Given the description of an element on the screen output the (x, y) to click on. 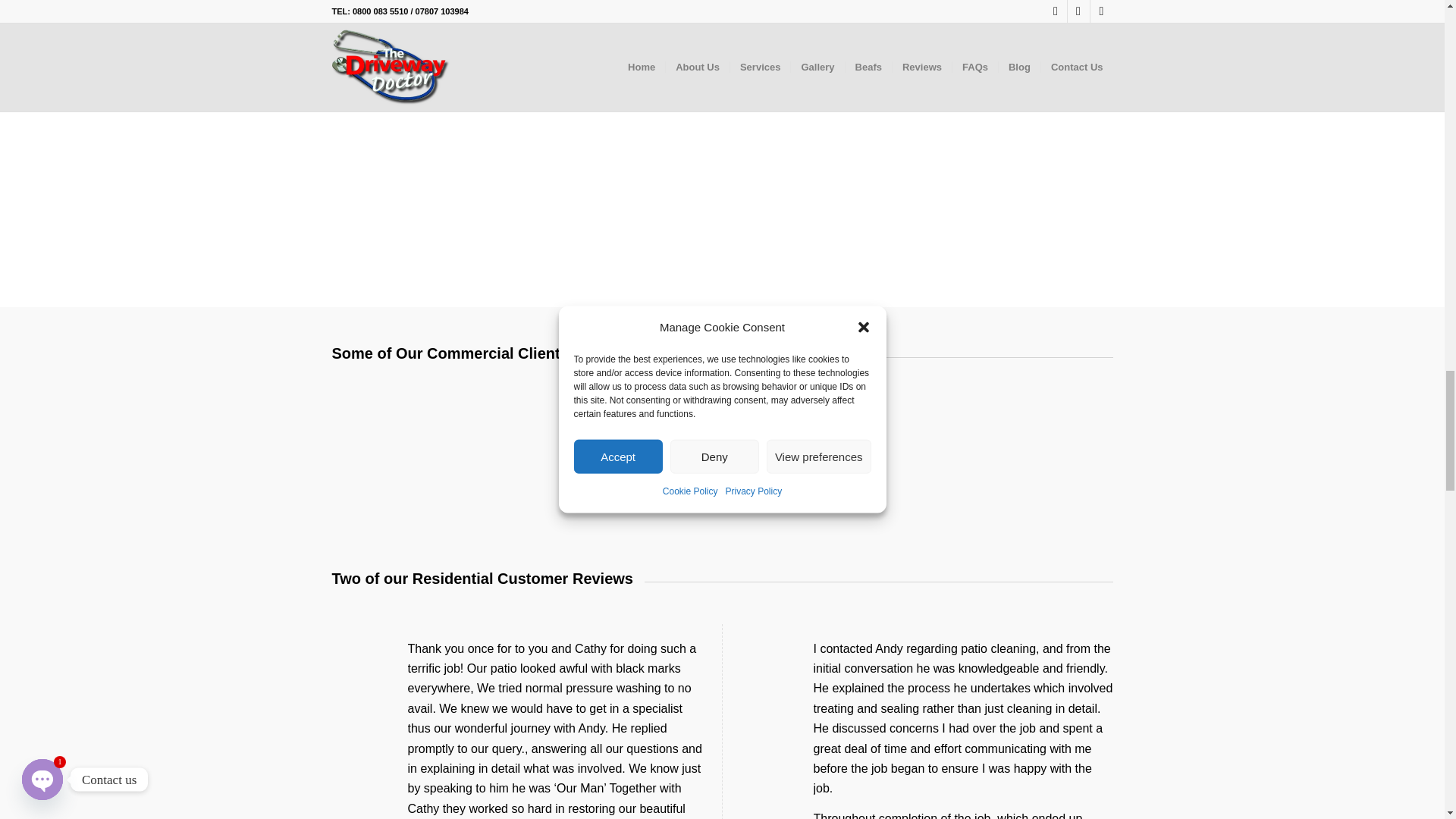
Bmw-logo (722, 432)
Royal-Priors (556, 432)
Tavelodge-logo (887, 454)
Checkatrade-Logo (514, 17)
Renault-master-banner (514, 155)
Enterprise-logo (1053, 454)
Mcdonalds-logo-slider (390, 445)
